Given the description of an element on the screen output the (x, y) to click on. 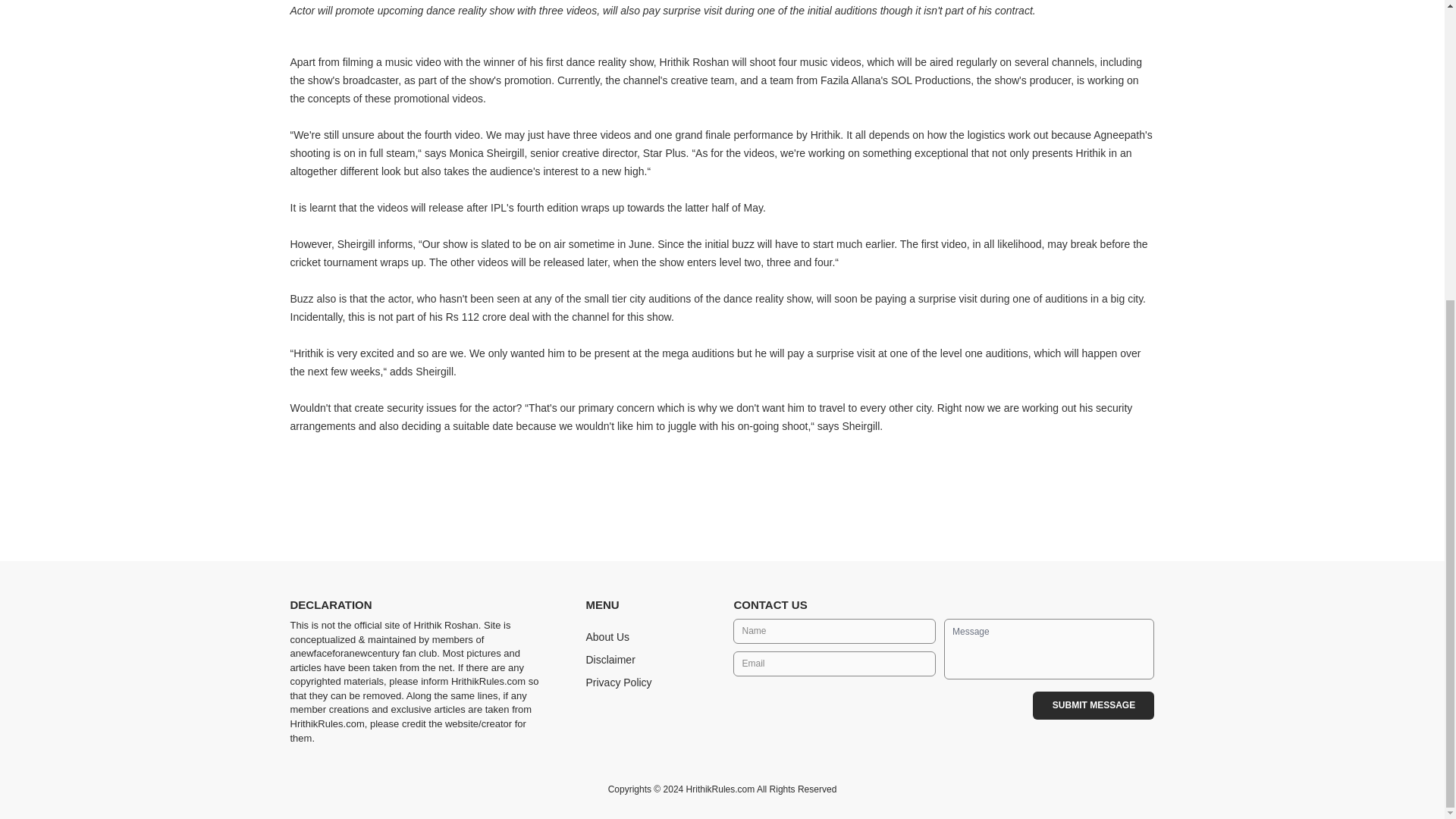
About Us (606, 636)
Disclaimer (609, 659)
SUBMIT MESSAGE (1093, 705)
Privacy Policy (617, 682)
